Given the description of an element on the screen output the (x, y) to click on. 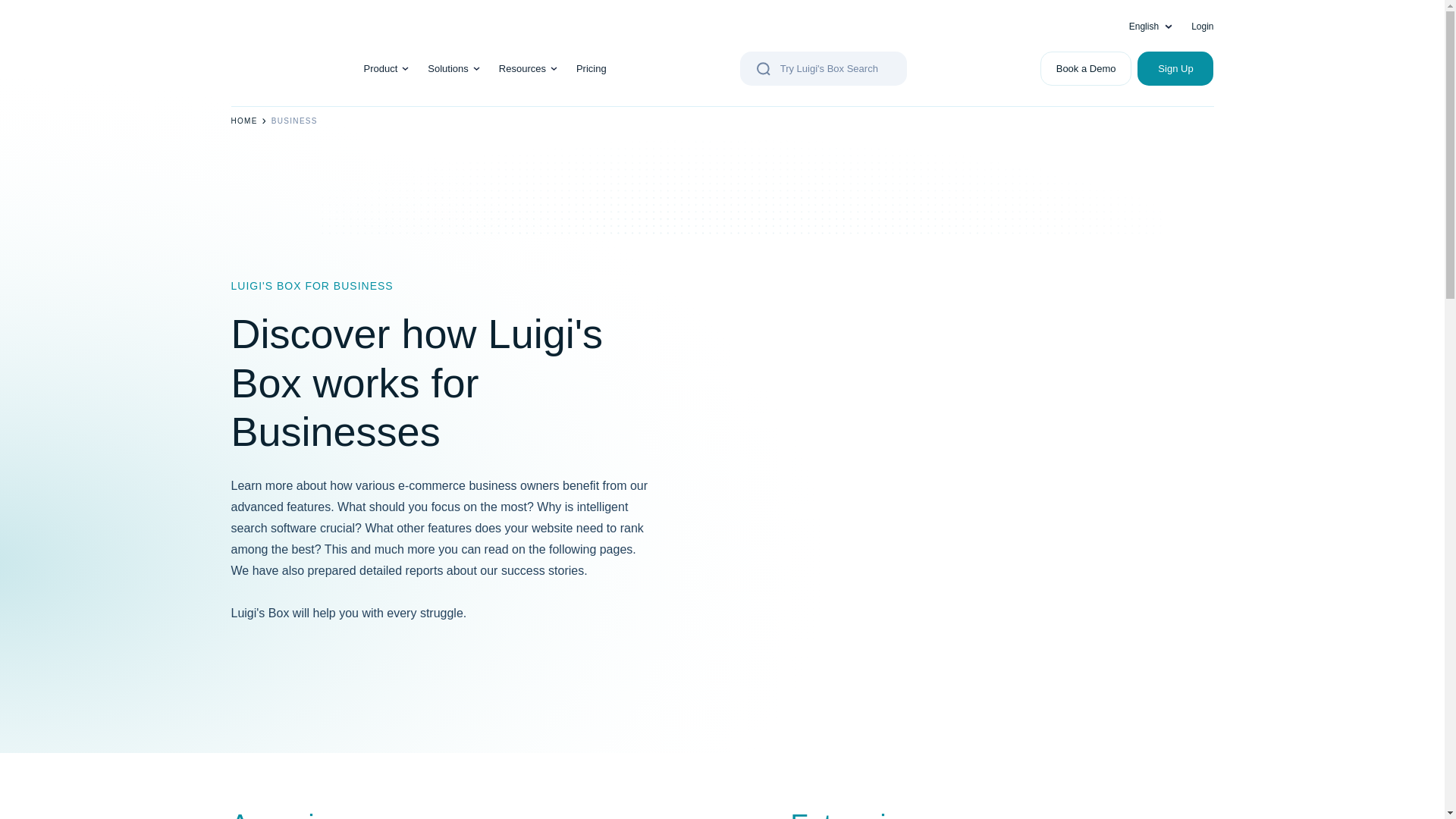
Product (380, 67)
Login (1201, 26)
Solutions (447, 67)
